Given the description of an element on the screen output the (x, y) to click on. 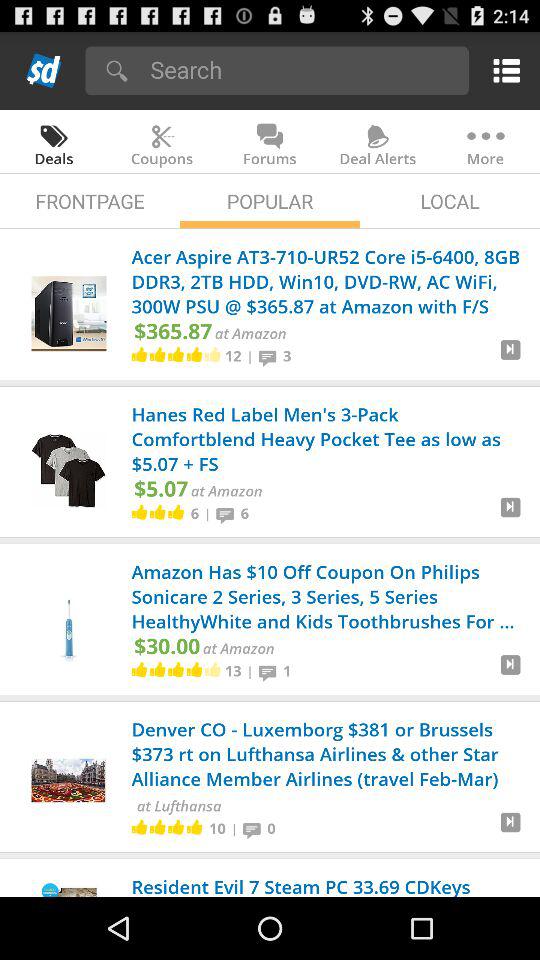
choose the icon below the at amazon icon (249, 671)
